Given the description of an element on the screen output the (x, y) to click on. 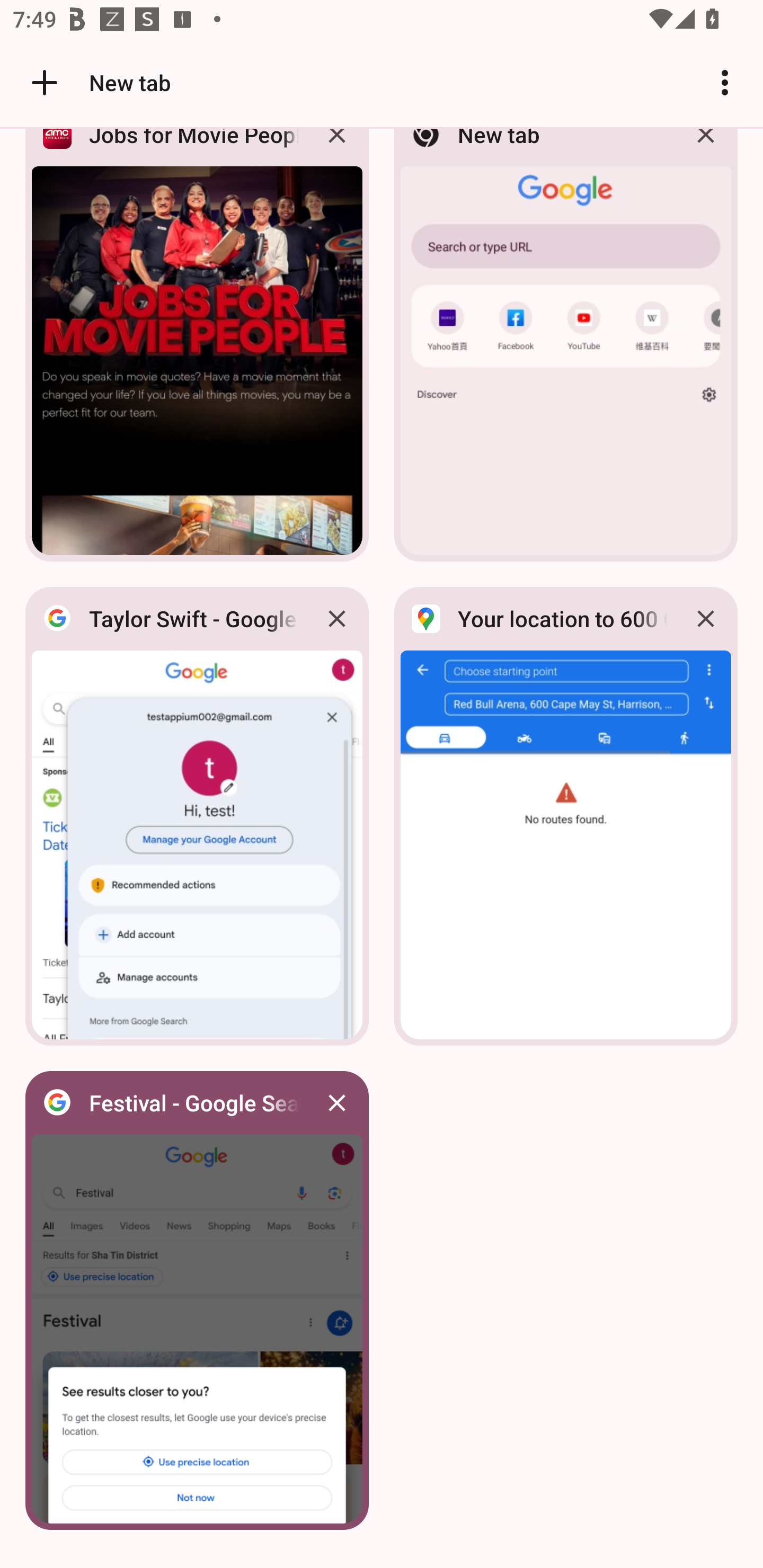
Open the home page (38, 82)
New tab (98, 82)
Customize and control Google Chrome (724, 82)
Customize and control Google Chrome (724, 82)
Customize and control Google Chrome (724, 82)
Close Jobs for Movie People tab (337, 149)
New tab New tab, tab Close New tab tab (565, 350)
Close New tab tab (705, 149)
Close Taylor Swift - Google Search tab (337, 618)
Close Festival - Google Search tab (337, 1102)
